Given the description of an element on the screen output the (x, y) to click on. 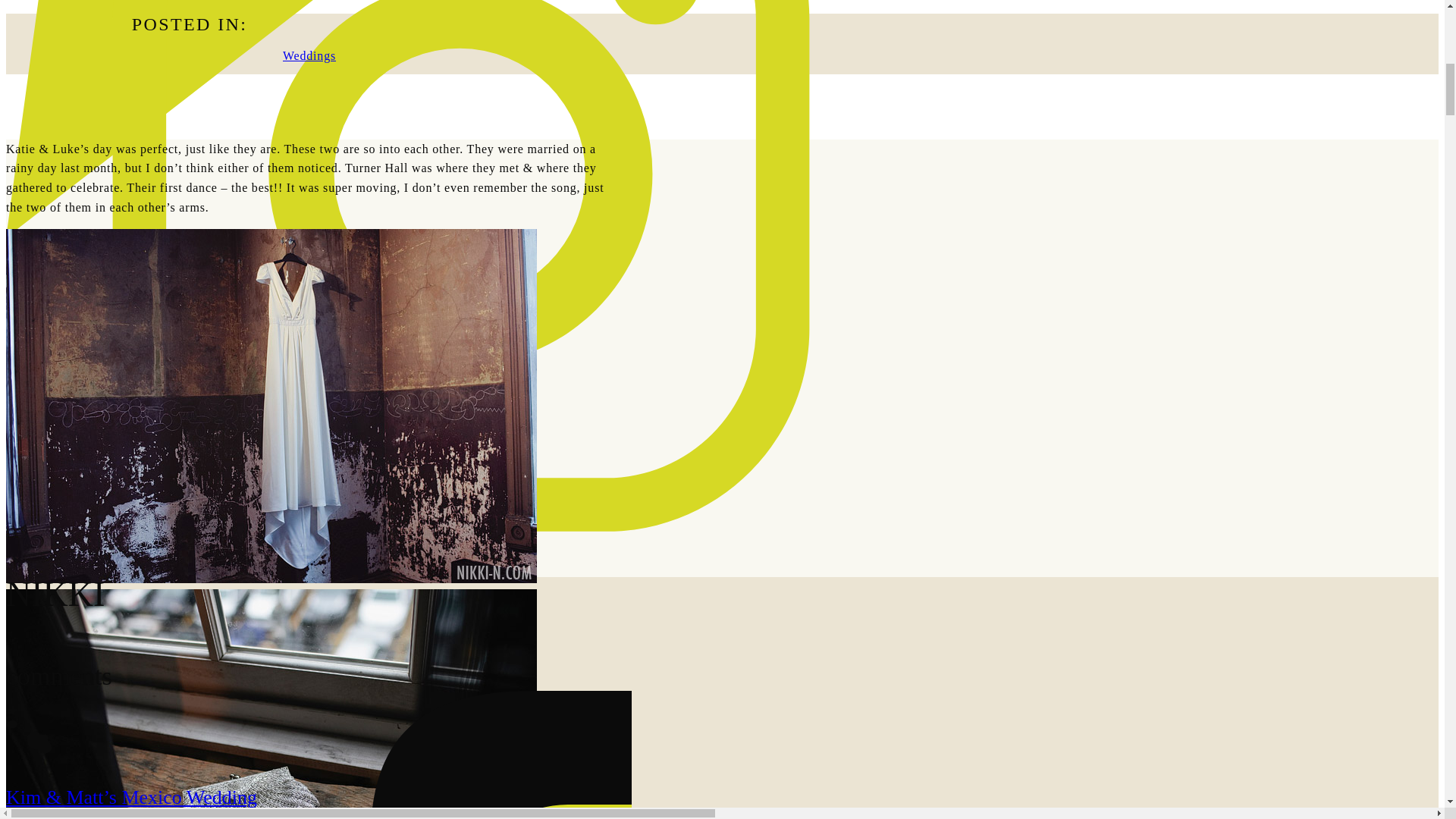
005 (271, 703)
BACK TO BLOG (460, 251)
Weddings (309, 55)
